Given the description of an element on the screen output the (x, y) to click on. 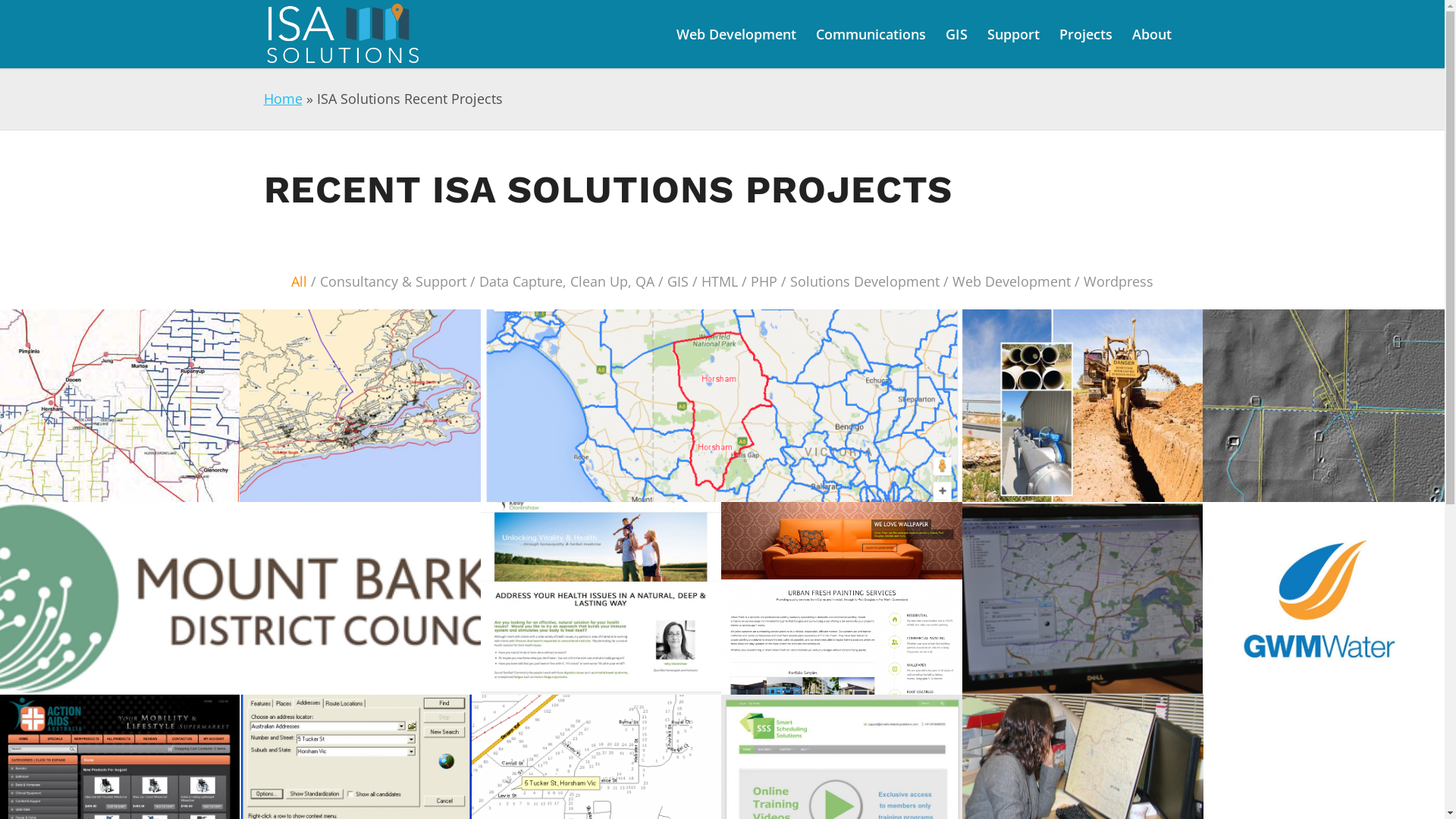
Web Development Element type: text (1011, 281)
kellyolorenshaw3 Element type: hover (600, 599)
Piping IT eView Portal Element type: hover (120, 405)
GIS Element type: text (956, 34)
HTML Element type: text (719, 281)
ISA-LOGO-white-text Element type: hover (343, 34)
wimmera_mallee_pipeline Element type: hover (1083, 405)
WMPP LIDAR Element type: hover (1322, 406)
GWM Water Logo Element type: hover (1322, 599)
WMPP LIDAR Element type: hover (1323, 405)
GWM Water Logo Element type: hover (1323, 598)
DCMB Logo Element type: hover (240, 598)
WTBTS NZ Element type: hover (359, 406)
Consultancy & Support Element type: text (393, 281)
WBTSA ArcView Project Element type: hover (1083, 598)
Projects Element type: text (1085, 34)
Wordpress Element type: text (1118, 281)
GIS Element type: text (677, 281)
Home Element type: text (282, 98)
Data Capture, Clean Up, QA Element type: text (566, 281)
Web Development Element type: text (735, 34)
Support Element type: text (1012, 34)
wimmera_mallee_pipeline Element type: hover (1082, 406)
About Element type: text (1151, 34)
kellyolorenshaw3 Element type: hover (601, 598)
WBTSA Spatial Website Element type: hover (722, 405)
PHP Element type: text (763, 281)
Communications Element type: text (870, 34)
UF Home top Element type: hover (841, 599)
WBTSA ArcView Project Element type: hover (1082, 599)
UF Home top Element type: hover (841, 598)
WTBTS NZ Element type: hover (360, 405)
WBTSA Spatial Website Element type: hover (721, 406)
All Element type: text (299, 281)
Solutions Development Element type: text (864, 281)
